Given the description of an element on the screen output the (x, y) to click on. 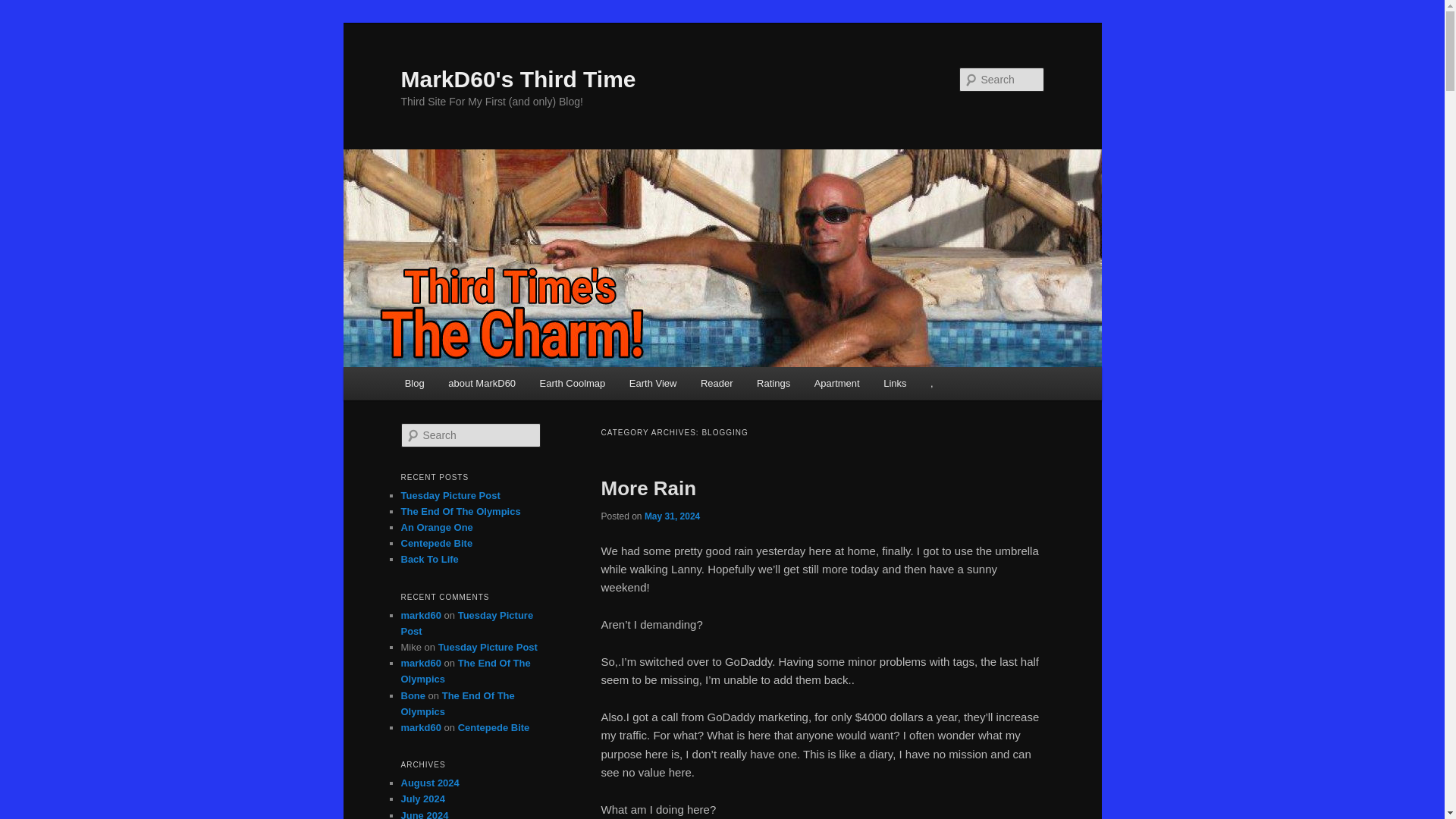
More Rain (647, 487)
Ratings (773, 382)
Apartment (836, 382)
Links (894, 382)
Earth View (652, 382)
MarkD60's Third Time (517, 78)
May 31, 2024 (672, 516)
Blog (414, 382)
Search (24, 8)
Reader (716, 382)
